Given the description of an element on the screen output the (x, y) to click on. 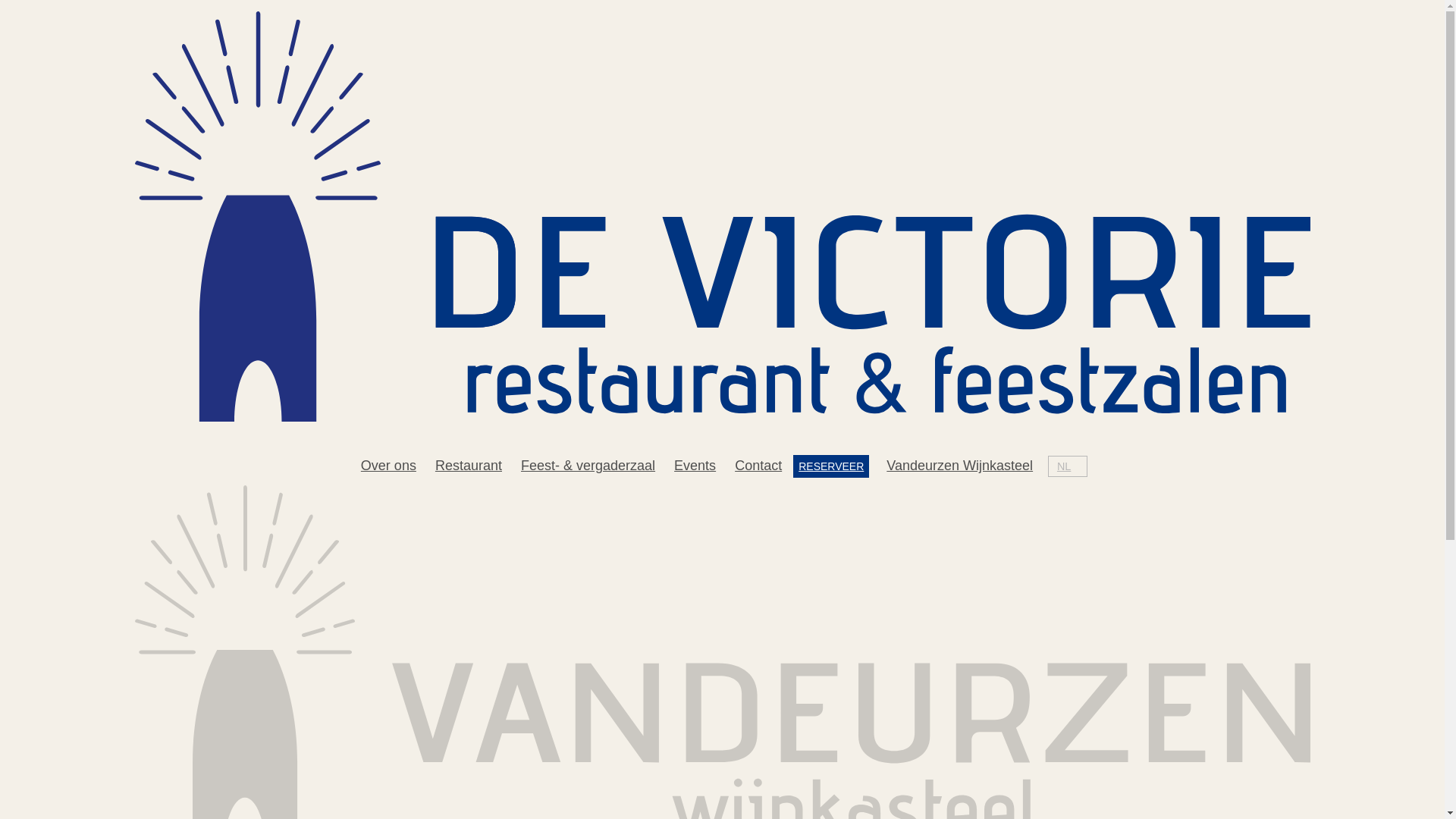
RESERVEER Element type: text (831, 466)
Over ons Element type: text (388, 465)
Naar de website Element type: text (162, 796)
Vandeurzen Wijnkasteel Element type: text (959, 465)
Contactformulier Element type: text (163, 365)
Overslaan en naar de inhoud gaan Element type: text (0, 0)
Verkoopvoorwaarden Element type: text (177, 412)
Events Element type: text (694, 465)
Vacatures Element type: text (143, 381)
Reserveer Element type: text (144, 663)
Restaurant Element type: text (468, 465)
NL Element type: text (1063, 466)
Contact Element type: text (758, 465)
Verlofperiodes Element type: text (156, 396)
Cookie- en privacyverklaring Element type: text (115, 728)
Akkoord Element type: text (157, 767)
Cookie- & privacyverklaring Element type: text (196, 428)
Feest- & vergaderzaal Element type: text (587, 465)
